Given the description of an element on the screen output the (x, y) to click on. 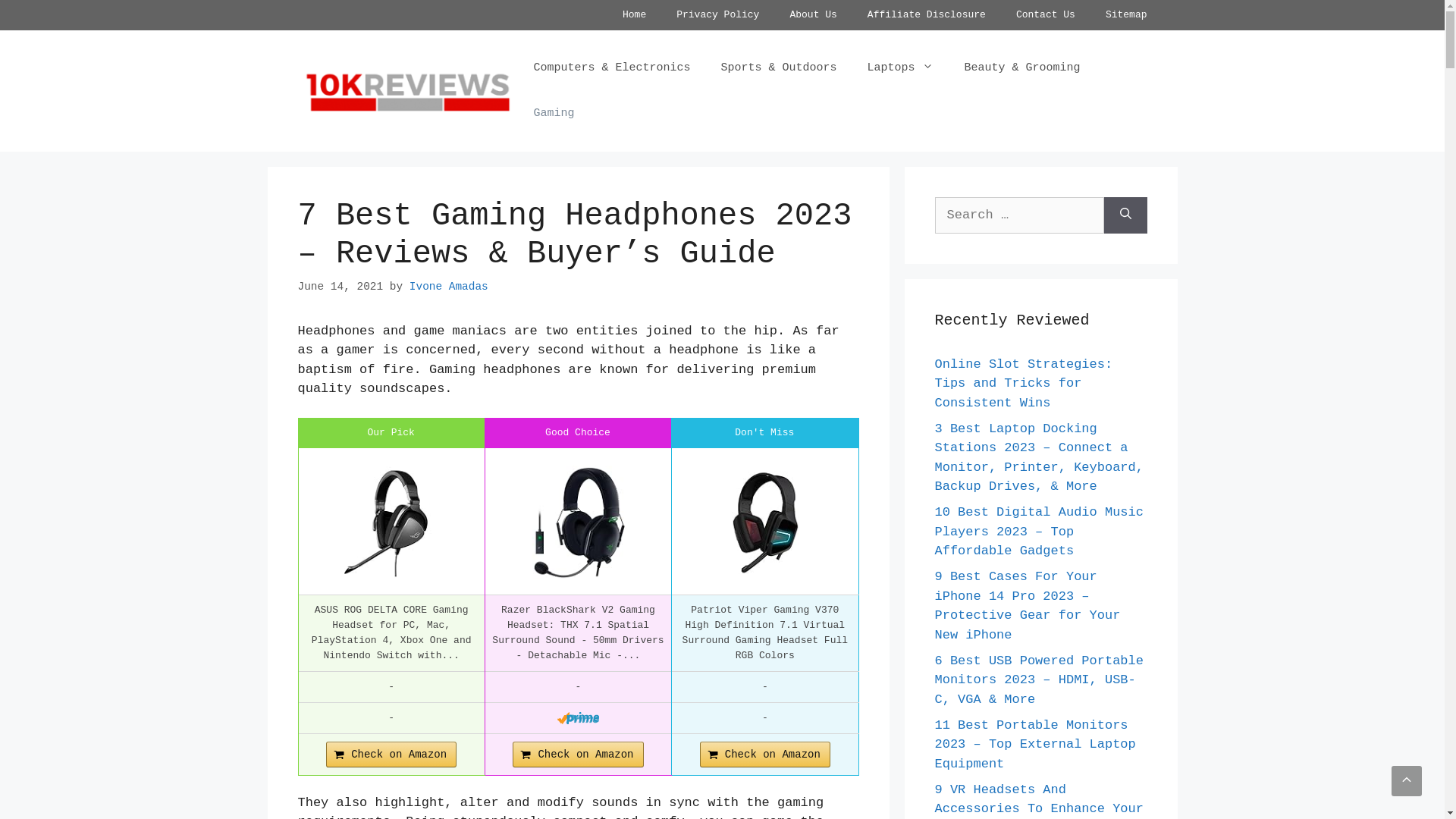
Check on Amazon Element type: text (764, 754)
Check on Amazon Element type: text (577, 754)
Beauty & Grooming Element type: text (1021, 68)
Privacy Policy Element type: text (717, 15)
Scroll back to top Element type: hover (1406, 780)
Sports & Outdoors Element type: text (778, 68)
Home Element type: text (634, 15)
Ivone Amadas Element type: text (448, 286)
Affiliate Disclosure Element type: text (926, 15)
Online Slot Strategies: Tips and Tricks for Consistent Wins Element type: text (1023, 382)
Gaming Element type: text (553, 113)
Contact Us Element type: text (1045, 15)
Check on Amazon Element type: text (391, 754)
Computers & Electronics Element type: text (611, 68)
Search for: Element type: hover (1018, 215)
Sitemap Element type: text (1126, 15)
Amazon Prime Element type: hover (578, 718)
About Us Element type: text (812, 15)
Laptops Element type: text (899, 68)
